Given the description of an element on the screen output the (x, y) to click on. 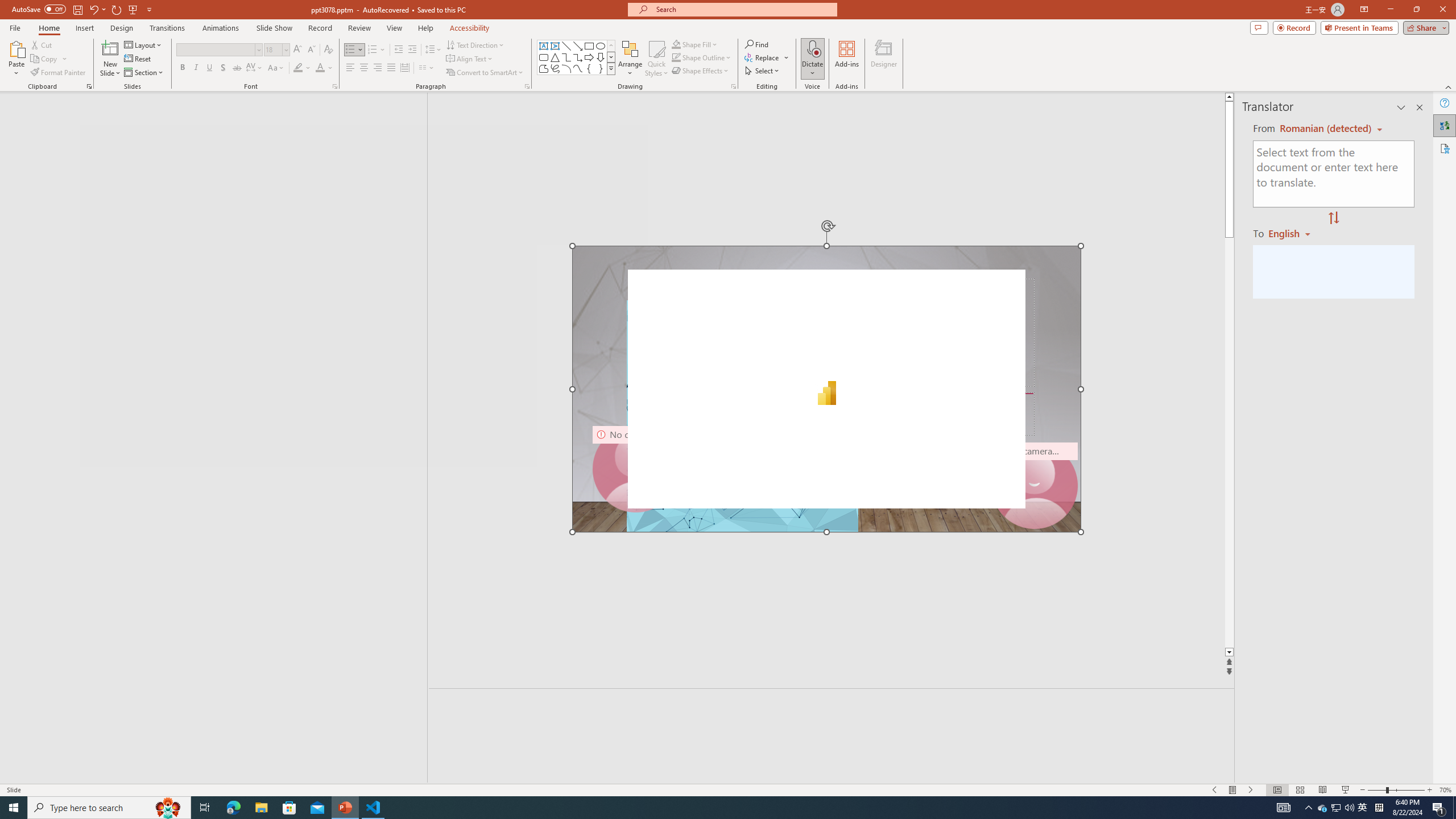
Camera 16, No camera detected. (1034, 485)
